Given the description of an element on the screen output the (x, y) to click on. 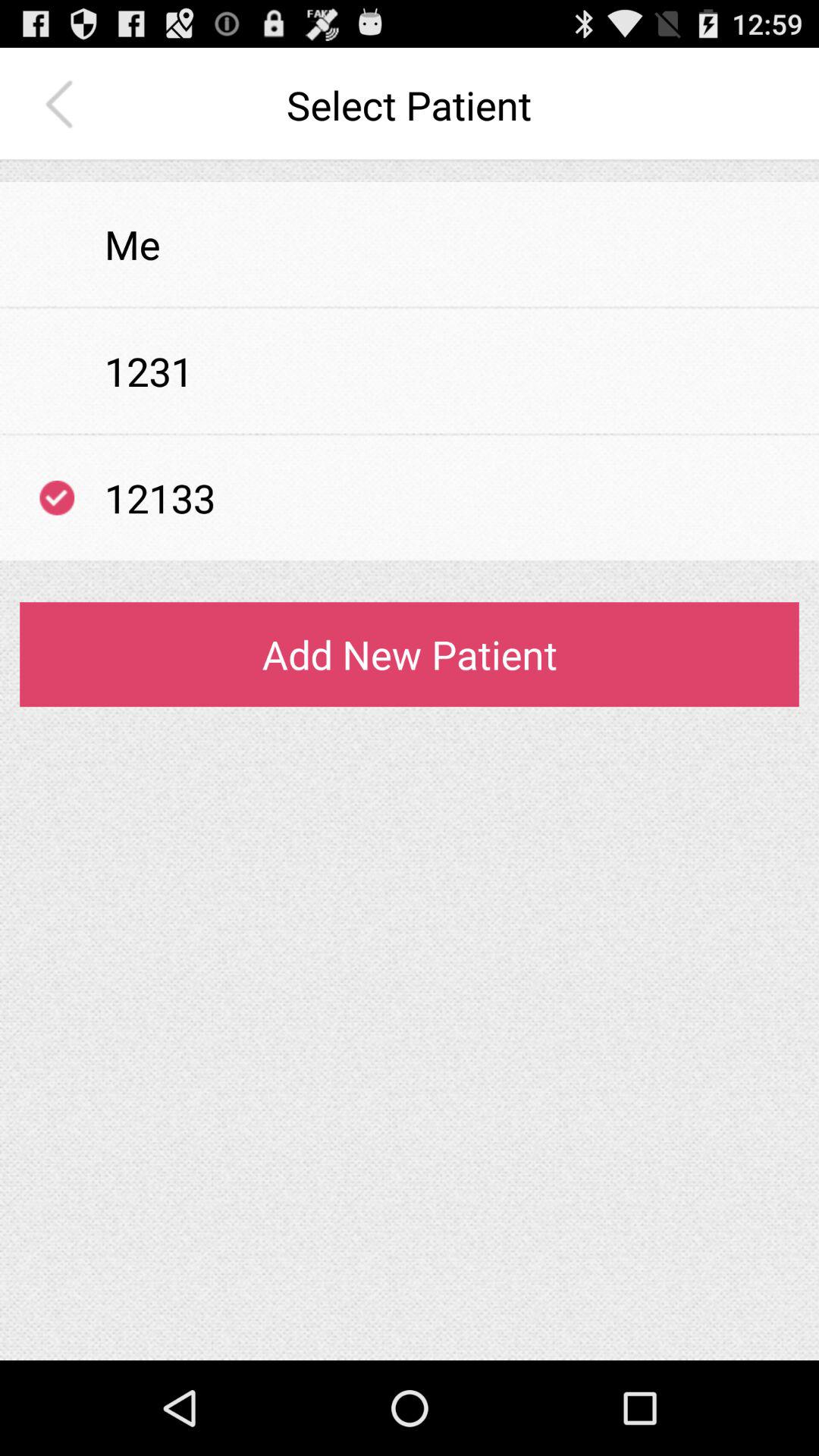
select the me item (132, 243)
